Given the description of an element on the screen output the (x, y) to click on. 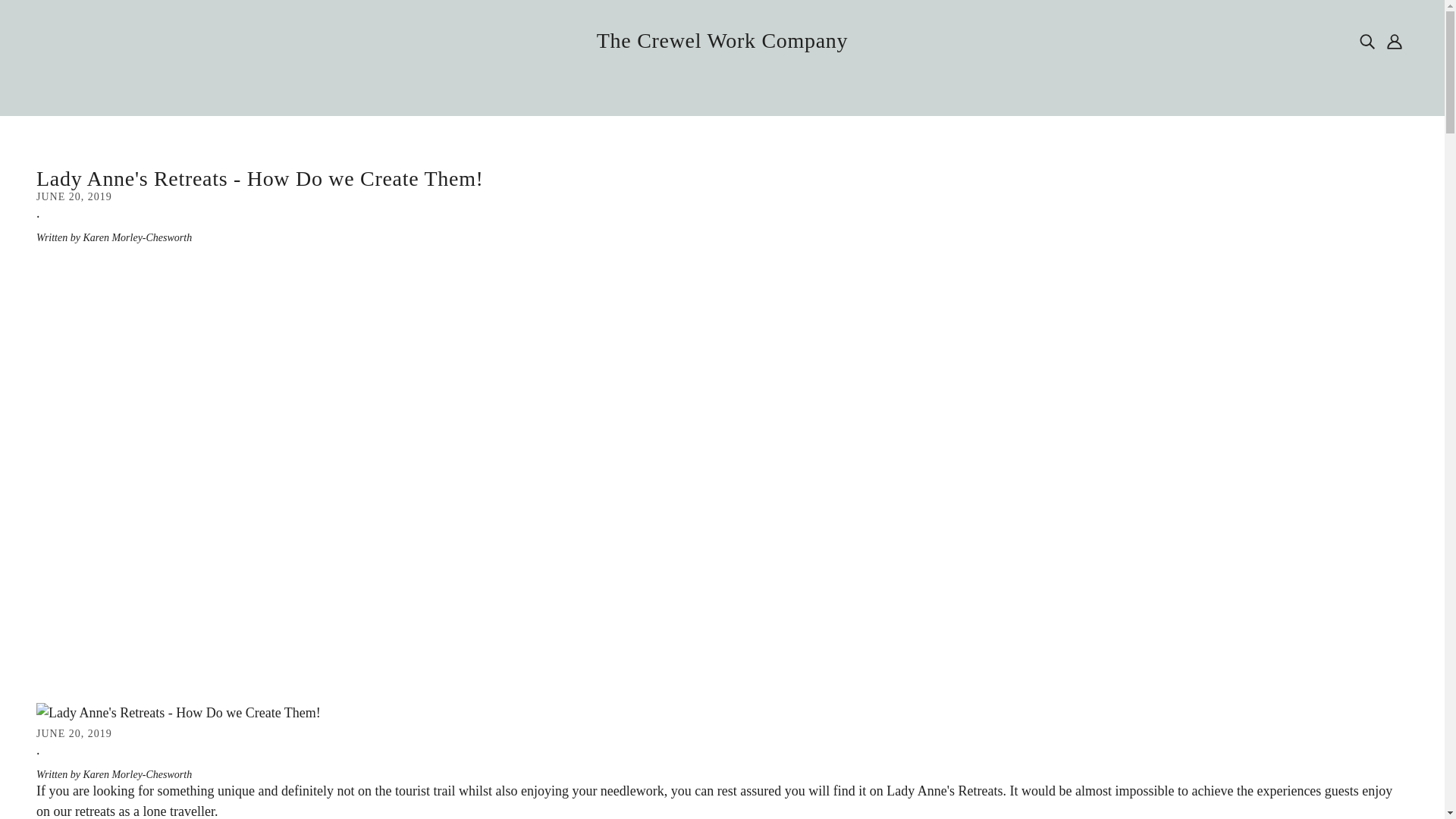
The Crewel Work Company (721, 40)
